Given the description of an element on the screen output the (x, y) to click on. 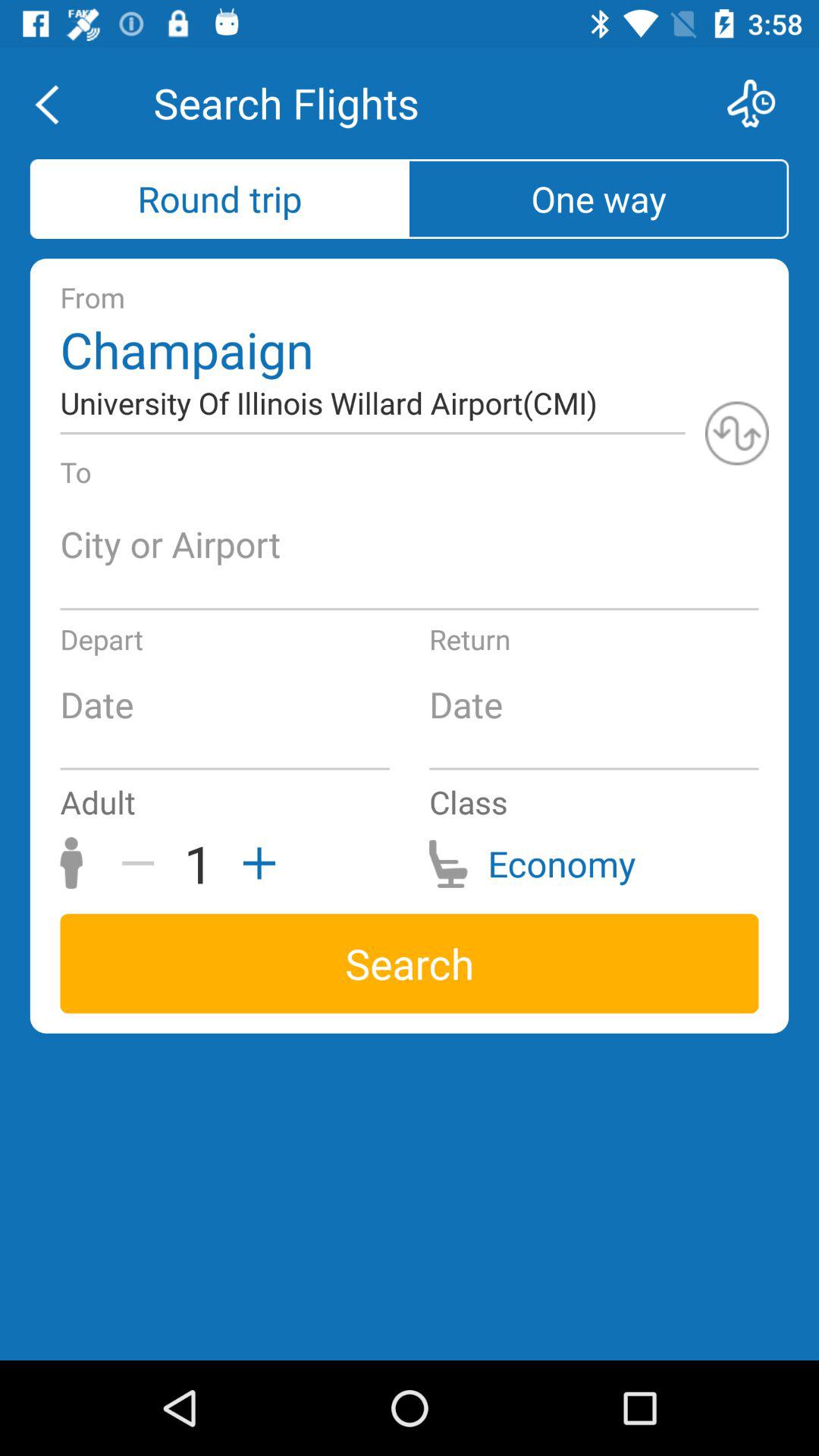
turn on the item to the right of the 1 icon (254, 863)
